Given the description of an element on the screen output the (x, y) to click on. 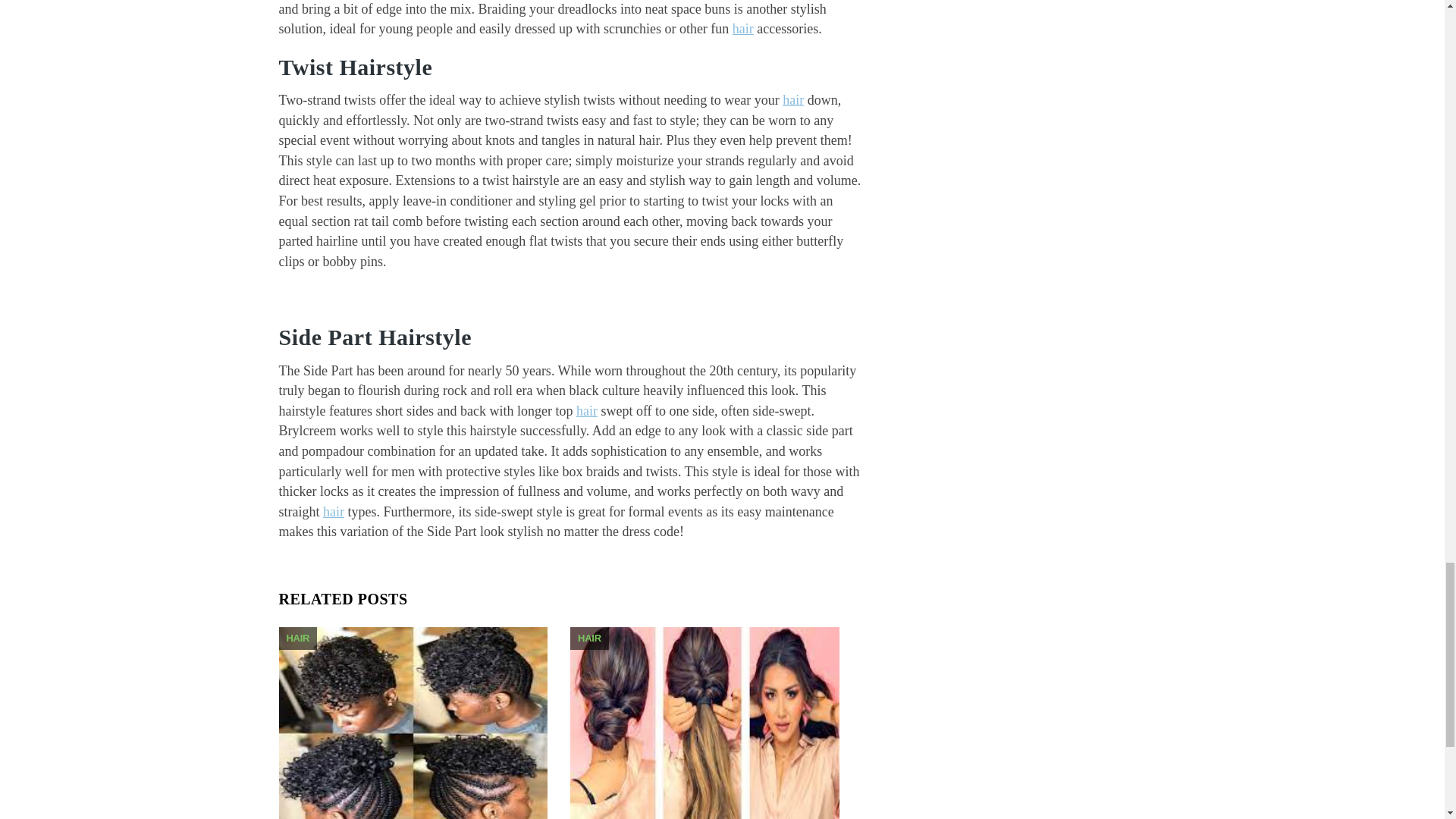
hair (333, 511)
hair (793, 99)
HAIR (298, 637)
hair (586, 410)
HAIR (589, 637)
hair (743, 28)
